Given the description of an element on the screen output the (x, y) to click on. 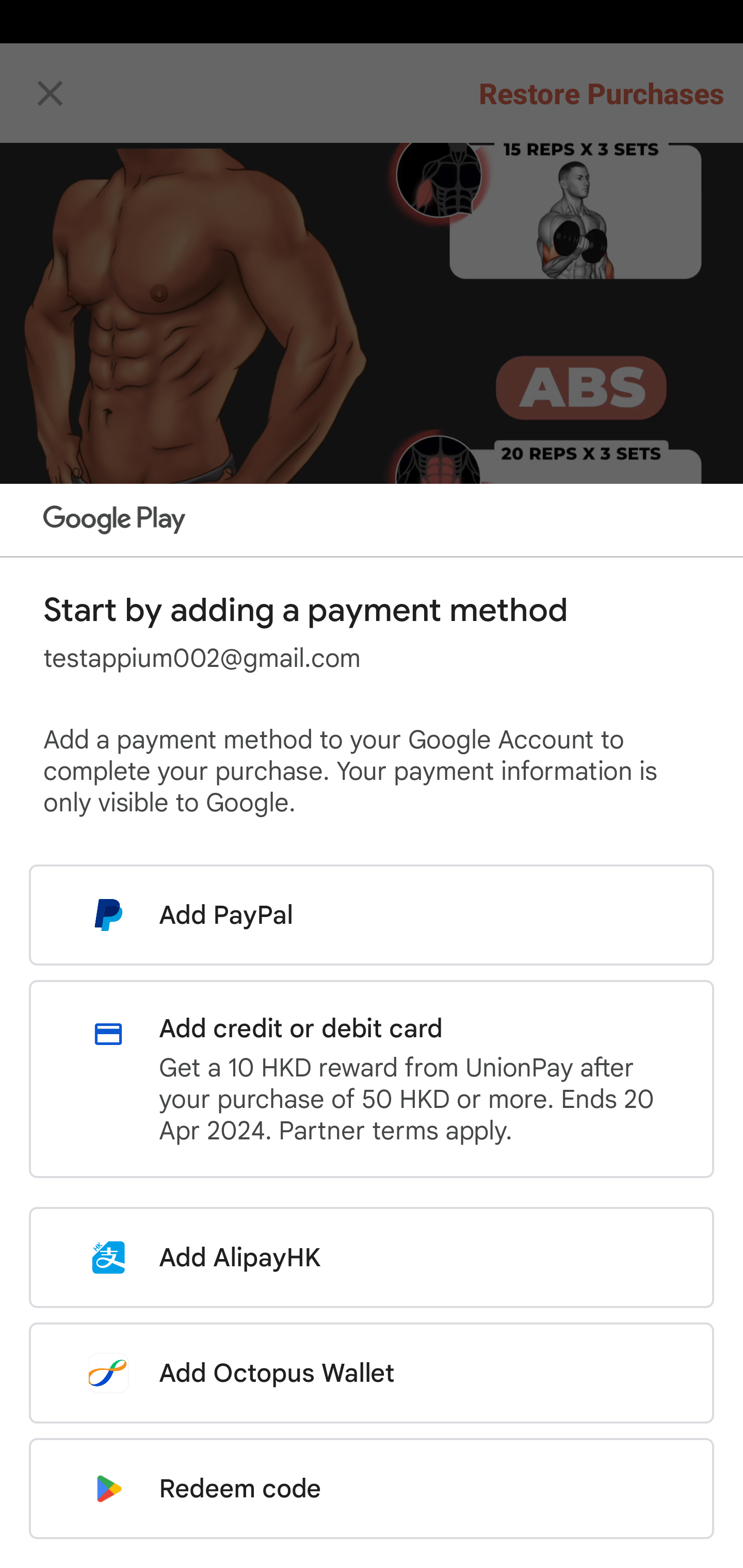
Add PayPal (371, 914)
Add AlipayHK (371, 1257)
Add Octopus Wallet (371, 1372)
Redeem code (371, 1488)
